Given the description of an element on the screen output the (x, y) to click on. 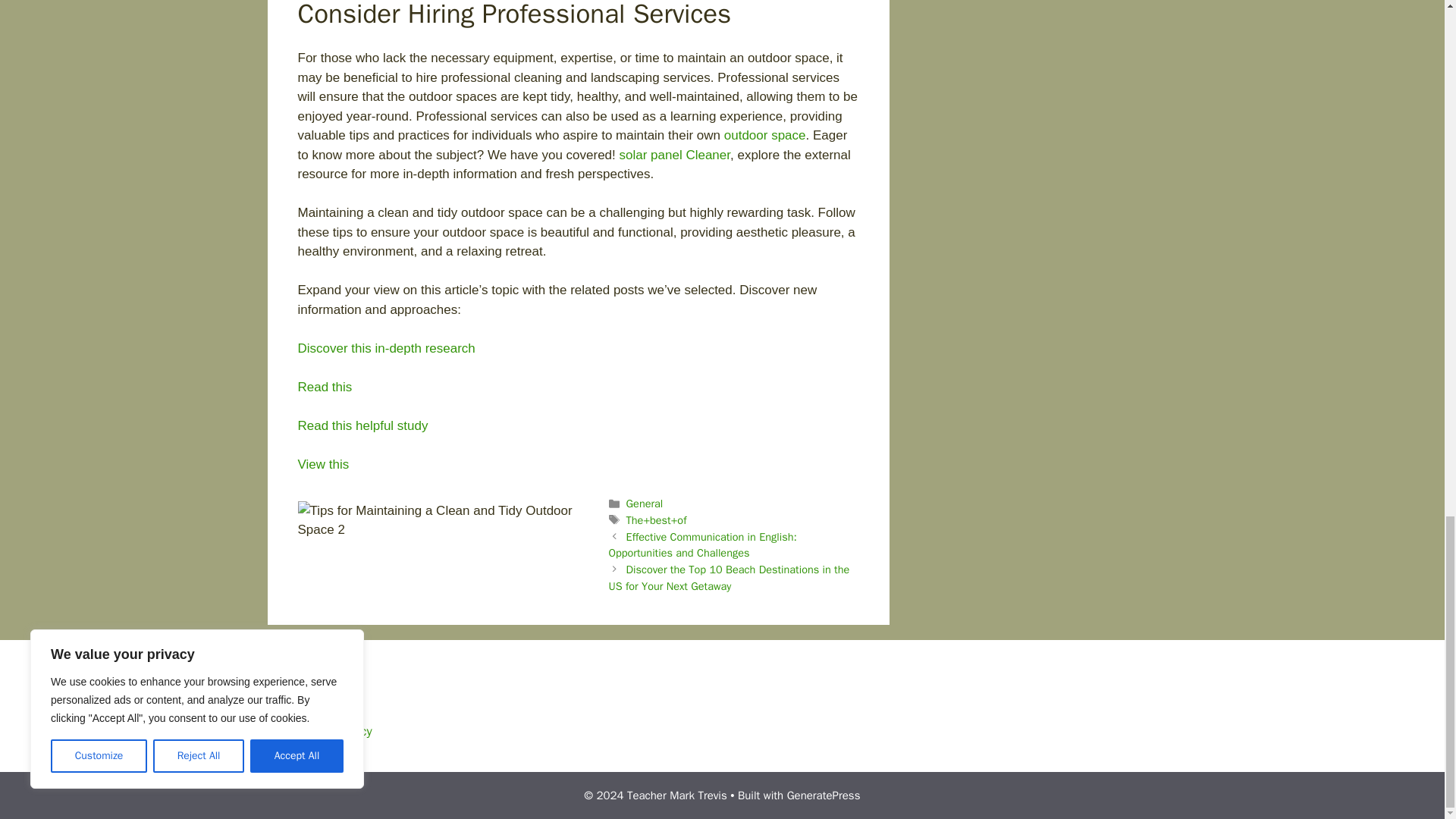
outdoor space (764, 134)
View this (323, 464)
Read this helpful study (362, 425)
solar panel Cleaner (673, 155)
Read this (324, 386)
Discover this in-depth research (385, 348)
General (644, 503)
